Given the description of an element on the screen output the (x, y) to click on. 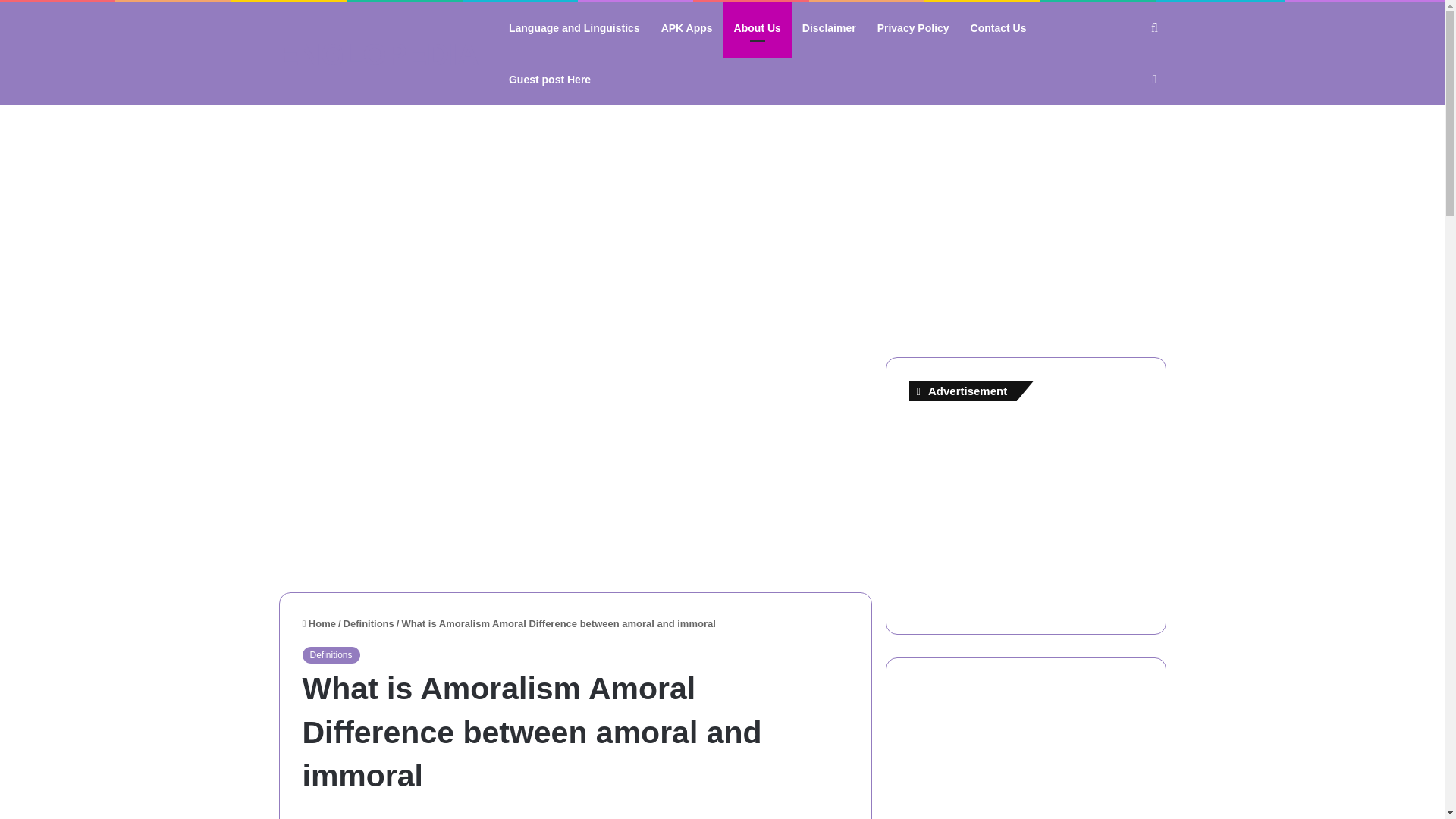
Advertisement (575, 463)
APK Apps (686, 28)
Home (317, 623)
Privacy Policy (912, 28)
Contact Us (997, 28)
Disclaimer (829, 28)
Definitions (368, 623)
ENGLOPEDIA (379, 53)
About Us (757, 28)
Guest post Here (549, 79)
Definitions (330, 655)
ENGLOPEDIA (379, 53)
Language and Linguistics (573, 28)
